Given the description of an element on the screen output the (x, y) to click on. 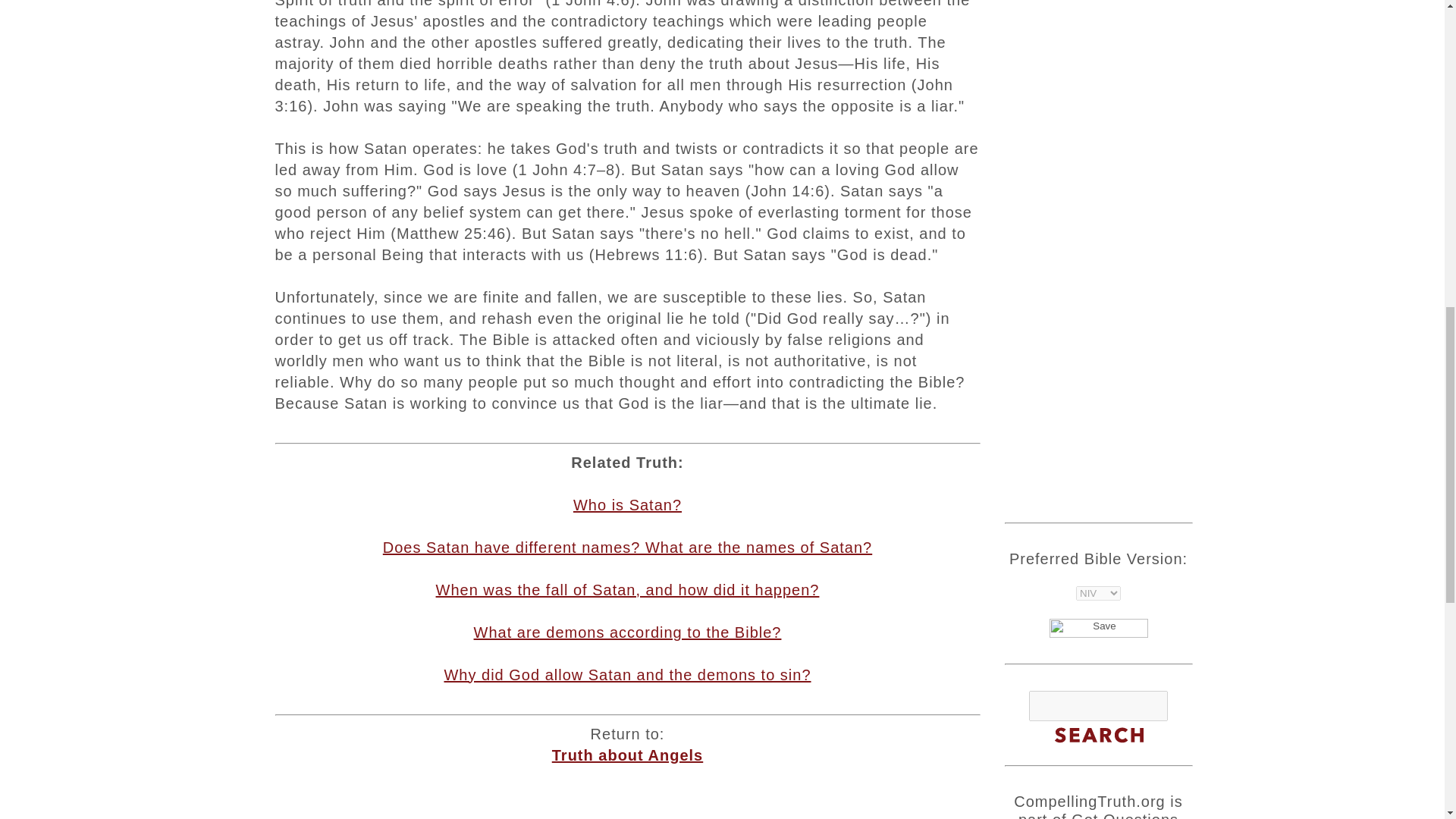
What are demons according to the Bible? (627, 632)
Why did God allow Satan and the demons to sin? (627, 674)
Truth about Angels (627, 754)
Save (1098, 628)
Who is Satan? (627, 504)
When was the fall of Satan, and how did it happen? (627, 589)
